Given the description of an element on the screen output the (x, y) to click on. 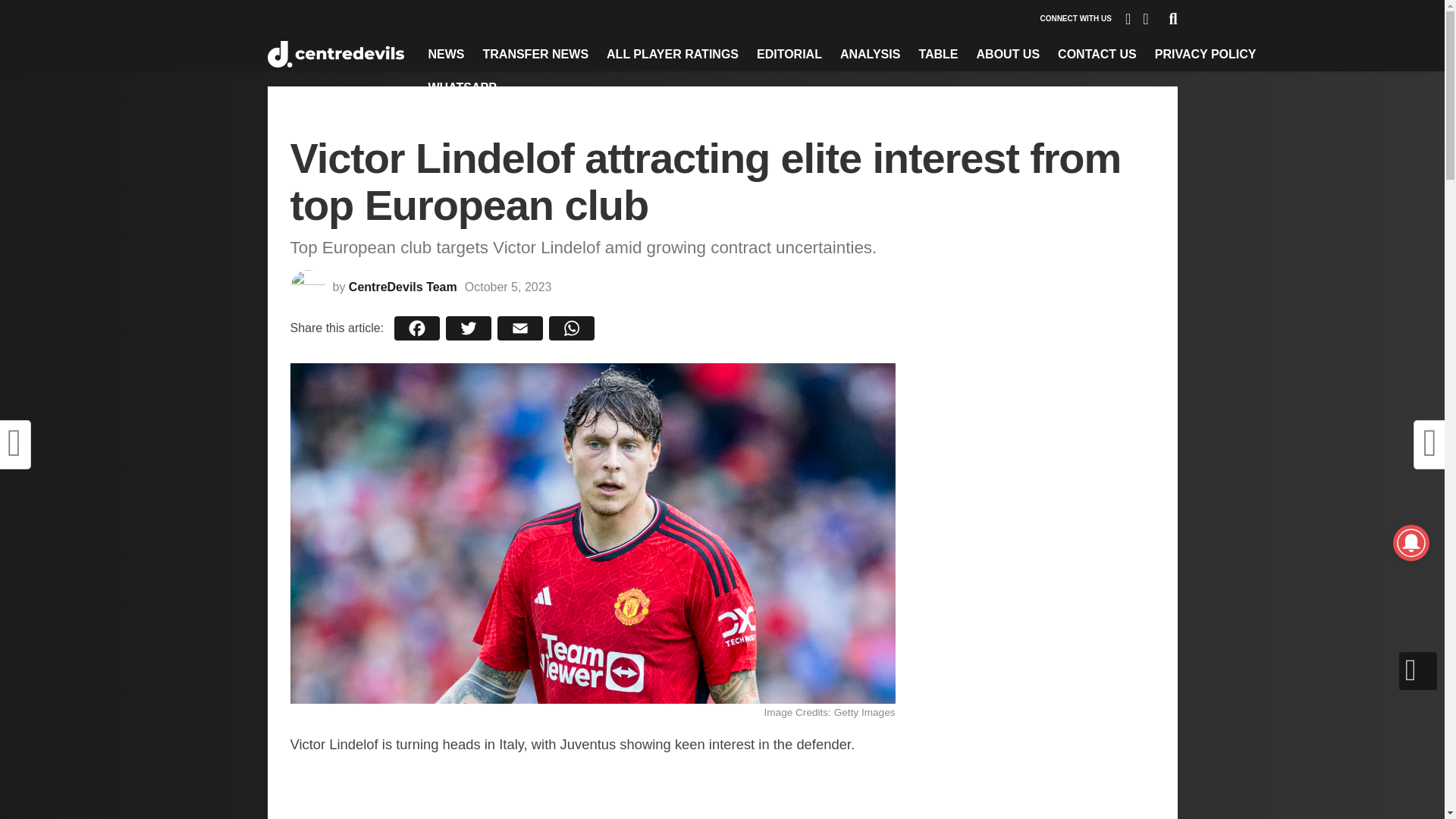
ABOUT US (1008, 54)
NEWS (446, 54)
TABLE (937, 54)
Email (520, 328)
Email (520, 328)
WHATSAPP (462, 87)
CentreDevils Team (403, 286)
Facebook (416, 328)
Twitter (468, 328)
ANALYSIS (869, 54)
